Given the description of an element on the screen output the (x, y) to click on. 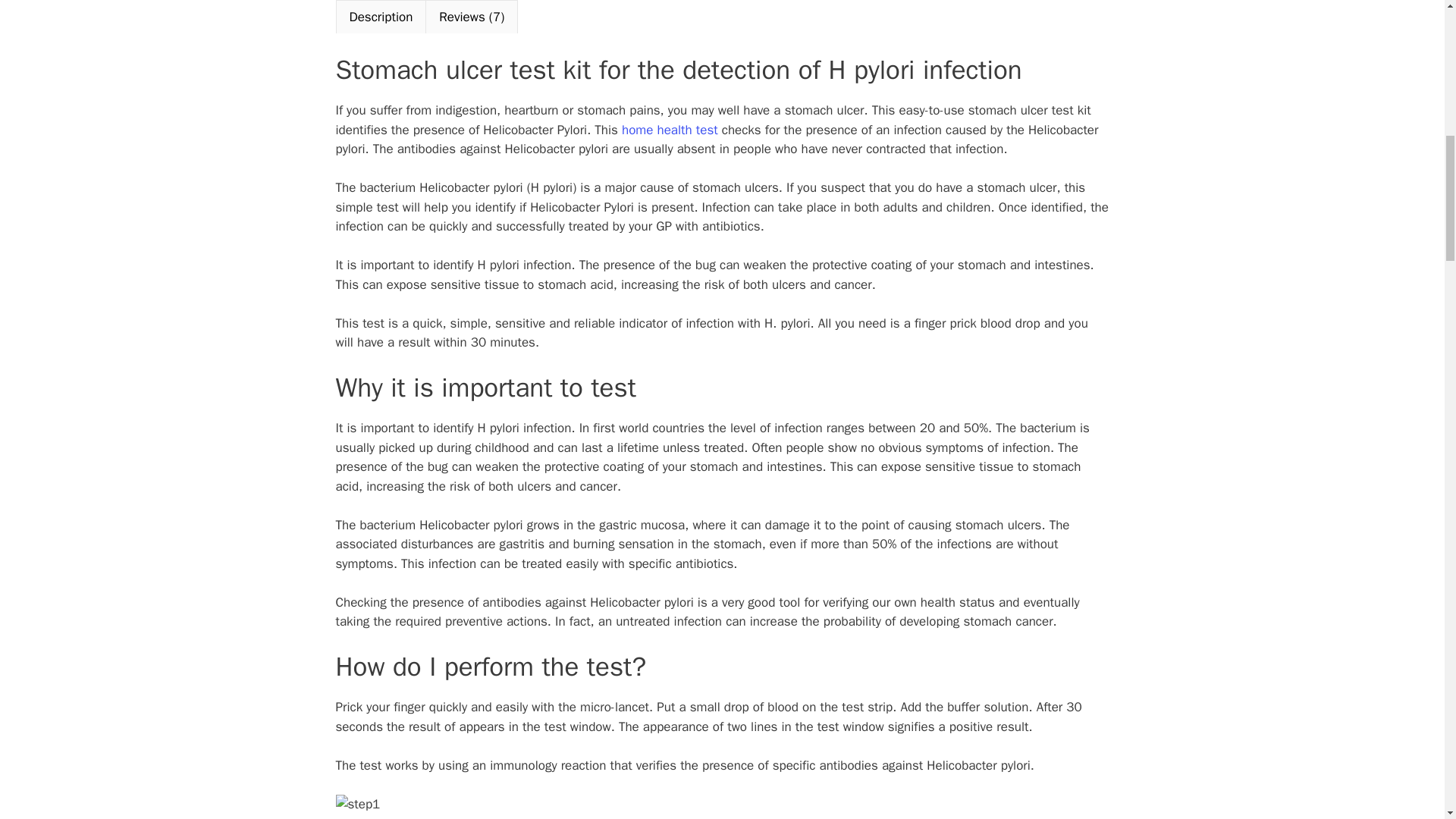
home health test (669, 130)
Description (380, 16)
